Given the description of an element on the screen output the (x, y) to click on. 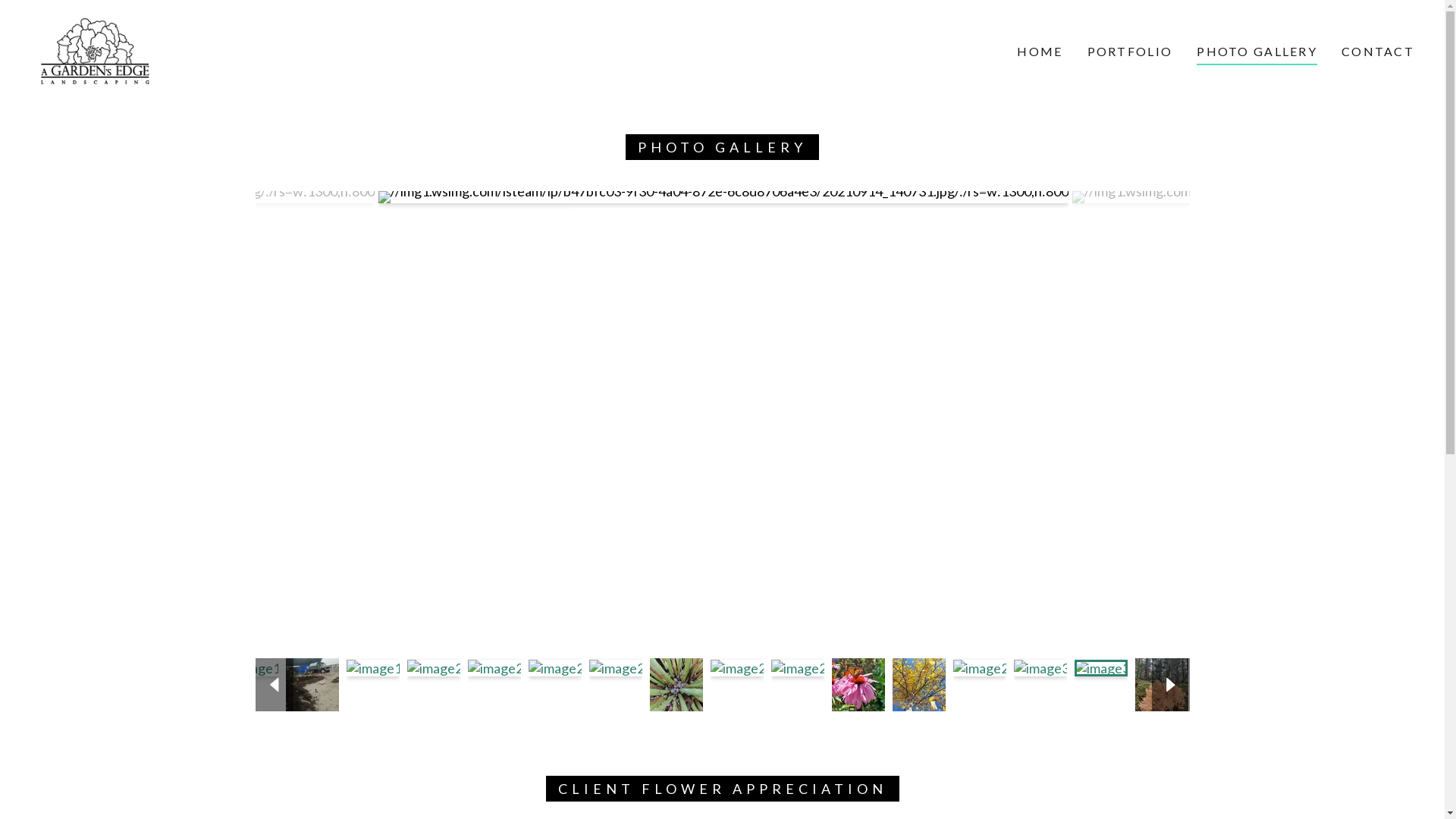
CONTACT Element type: text (1377, 51)
PORTFOLIO Element type: text (1129, 51)
HOME Element type: text (1039, 51)
PHOTO GALLERY Element type: text (1256, 53)
